Given the description of an element on the screen output the (x, y) to click on. 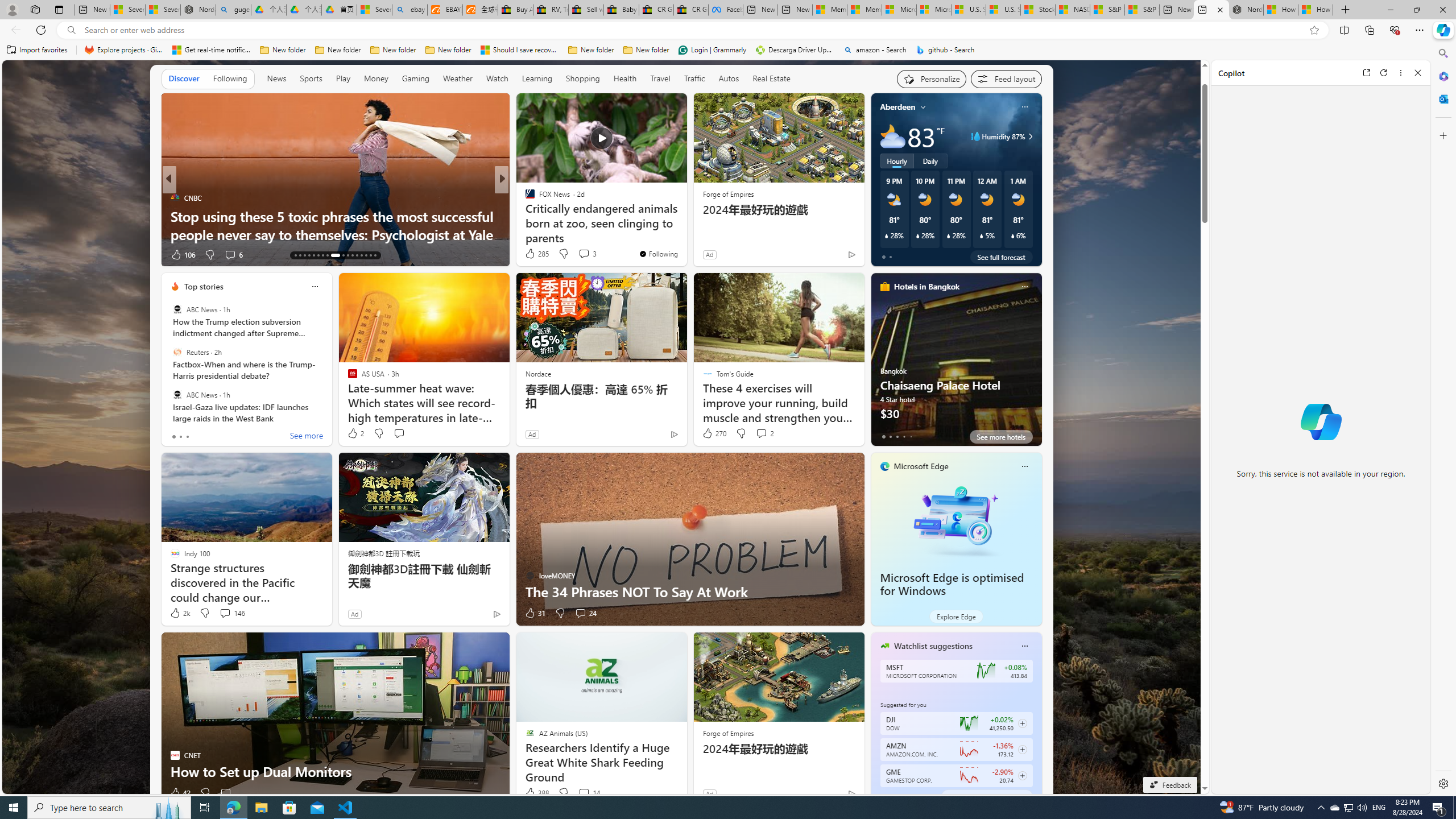
Favorites bar (715, 49)
Open link in new tab (1366, 72)
Microsoft Edge is optimised for Windows (952, 584)
tab-3 (903, 795)
TechRadar (524, 197)
388 Like (536, 792)
AutomationID: tab-19 (322, 255)
